Given the description of an element on the screen output the (x, y) to click on. 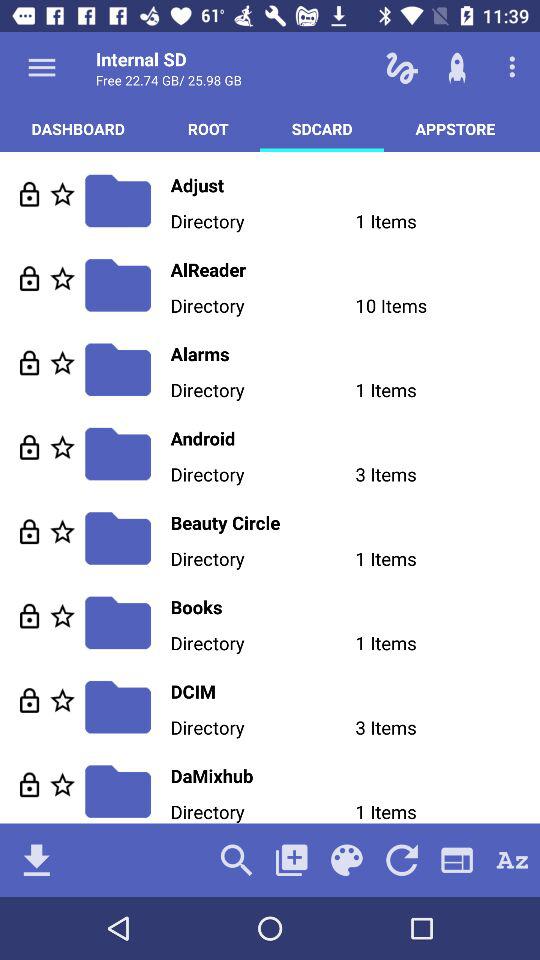
tap icon to the right of the sdcard (455, 128)
